Given the description of an element on the screen output the (x, y) to click on. 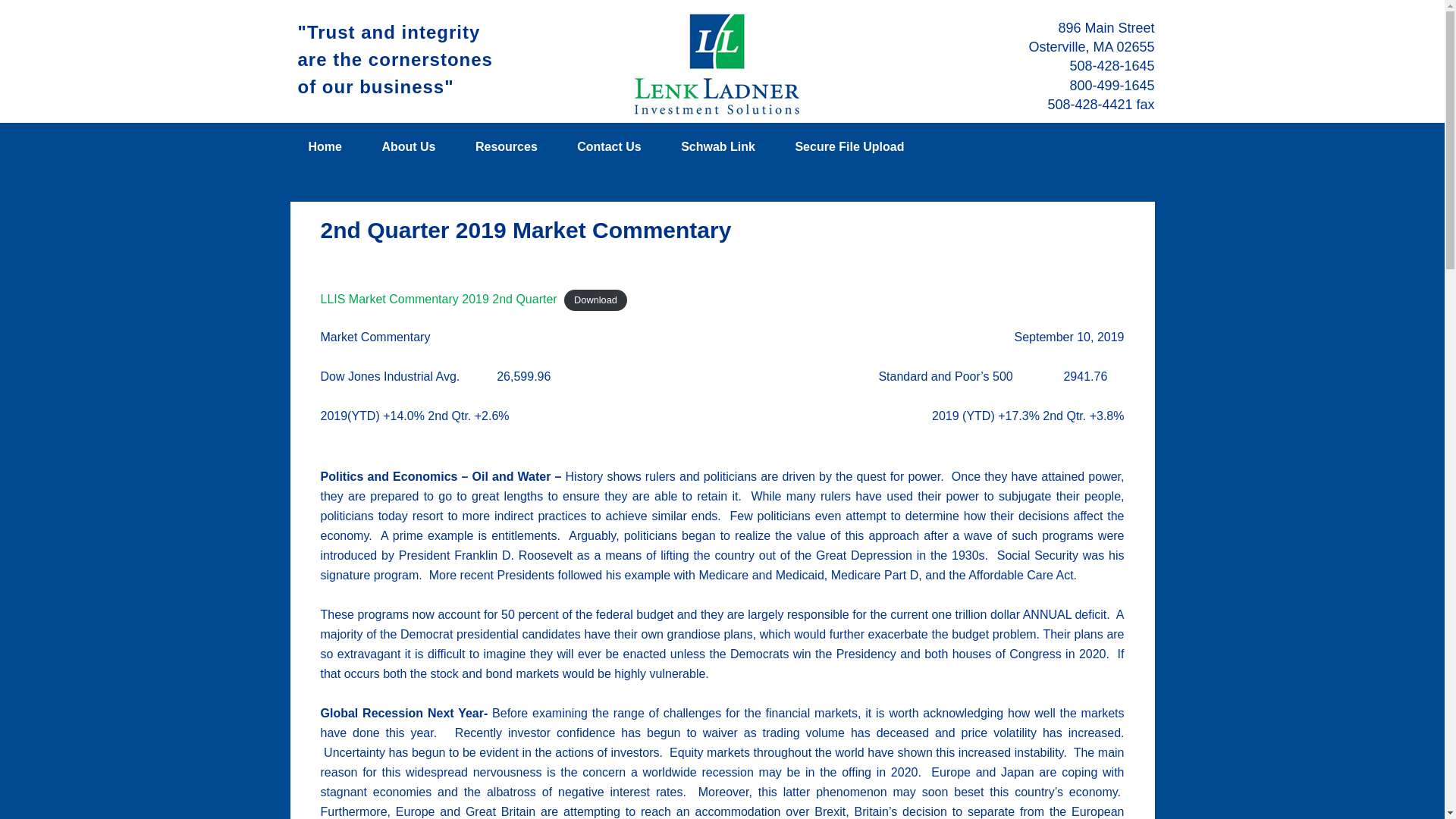
About Us (407, 146)
Download (595, 300)
Contact Us (609, 146)
Secure File Upload (848, 146)
Schwab Link (717, 146)
Resources (506, 146)
Home (324, 146)
LLIS Market Commentary 2019 2nd Quarter (438, 298)
